Given the description of an element on the screen output the (x, y) to click on. 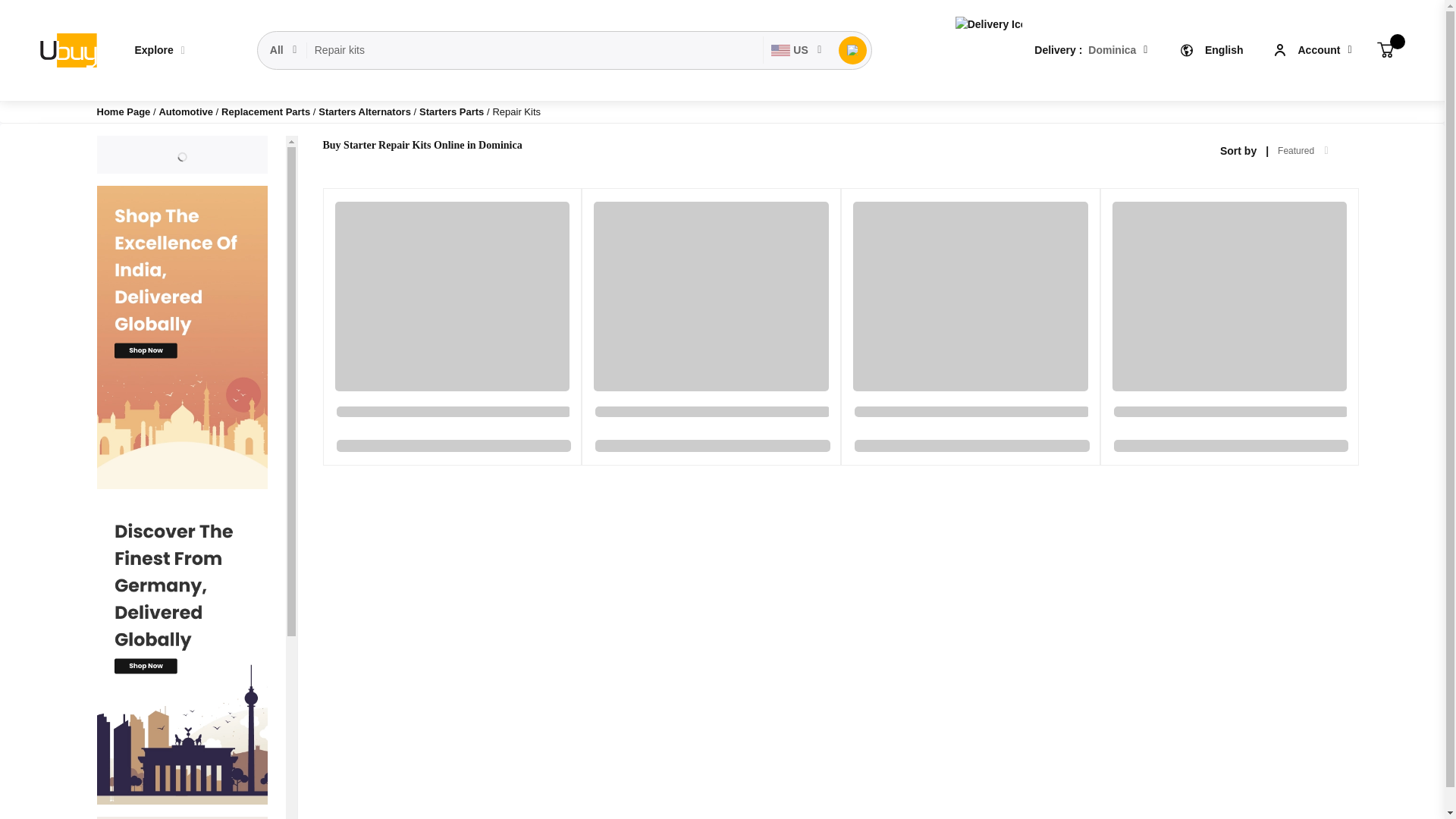
Home Page (124, 111)
Repair kits (534, 49)
Home Page (124, 111)
Automotive (186, 111)
Cart (1385, 49)
Repair kits (534, 49)
All (283, 50)
Ubuy (67, 50)
Automotive (186, 111)
US (795, 50)
